Given the description of an element on the screen output the (x, y) to click on. 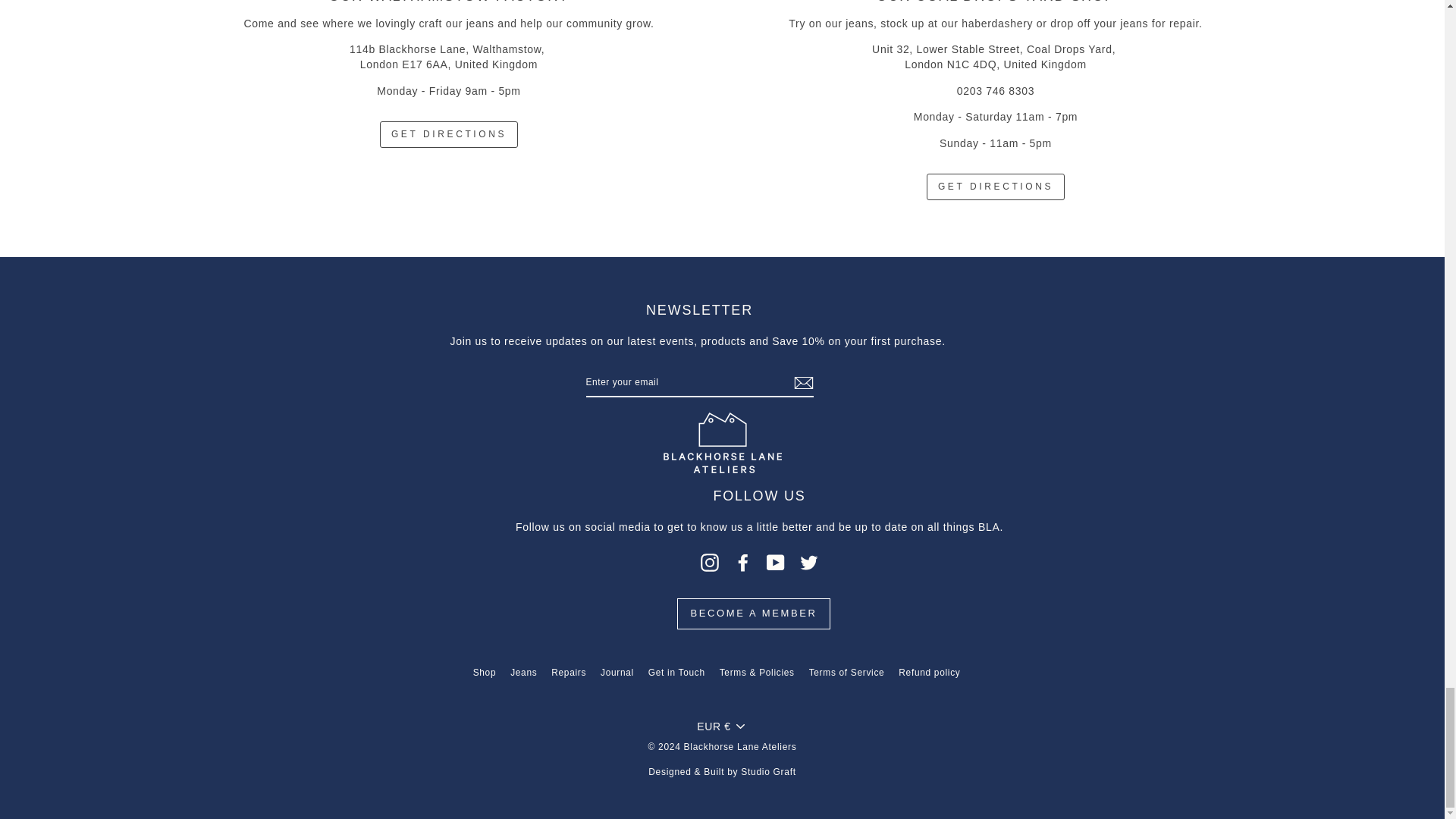
Blackhorse Lane Ateliers  on Instagram (709, 562)
BECOME A MEMBER (754, 613)
Blackhorse Lane Ateliers  on Twitter (808, 562)
Blackhorse Lane Ateliers  on Facebook (742, 562)
Blackhorse Lane Ateliers  on YouTube (775, 562)
